Given the description of an element on the screen output the (x, y) to click on. 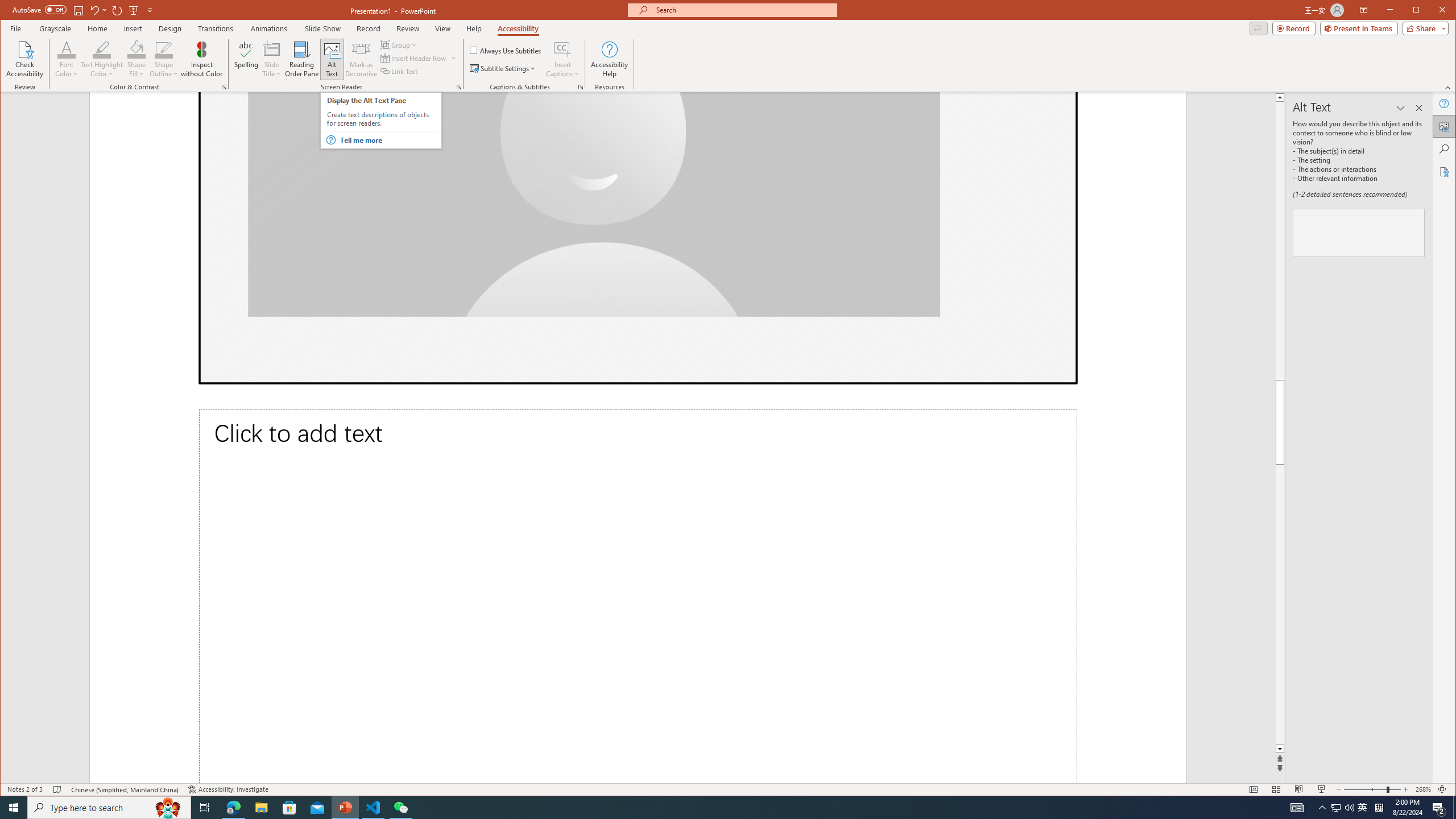
Tell me more (389, 139)
